Given the description of an element on the screen output the (x, y) to click on. 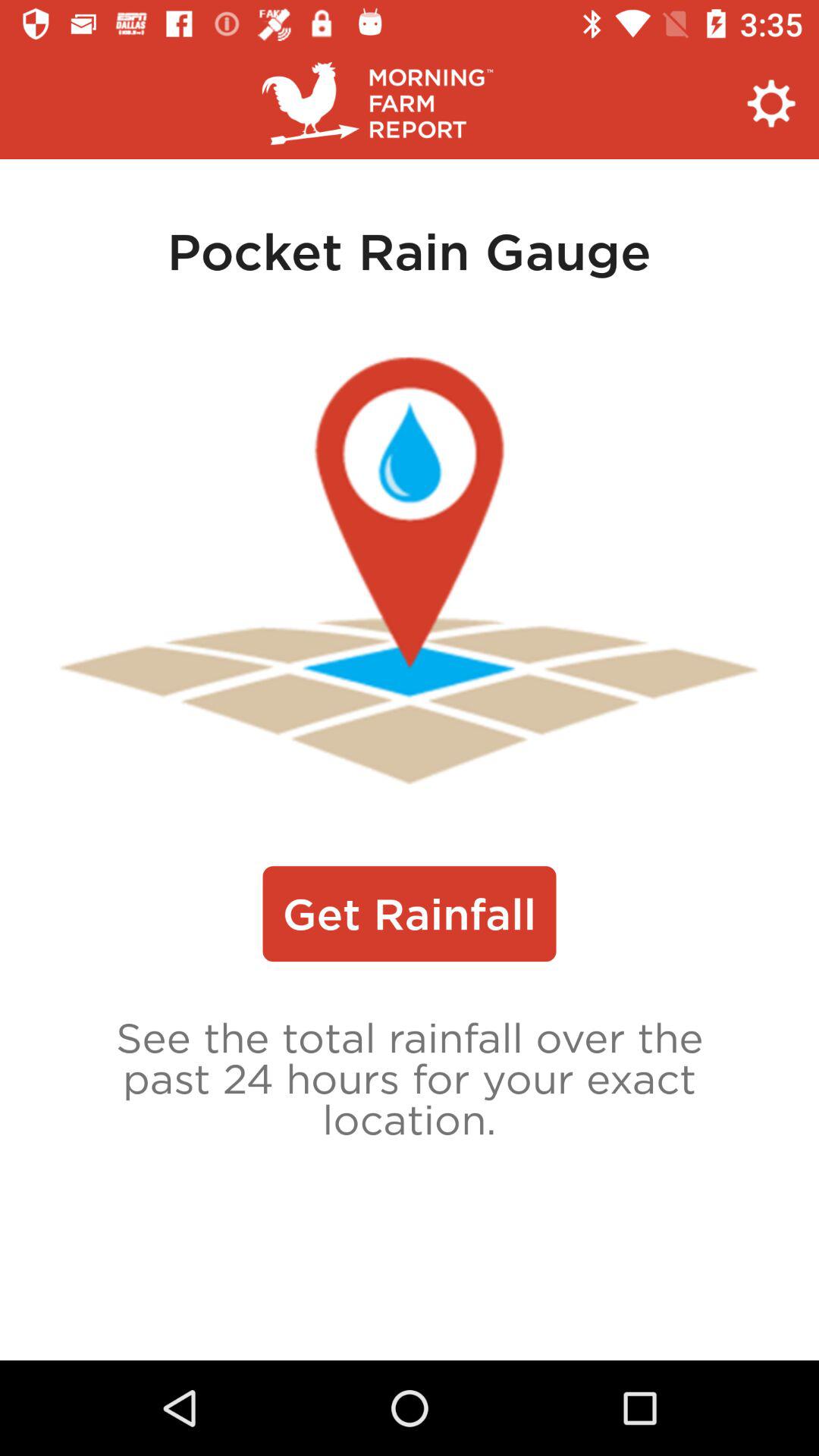
flip to get rainfall (409, 913)
